Given the description of an element on the screen output the (x, y) to click on. 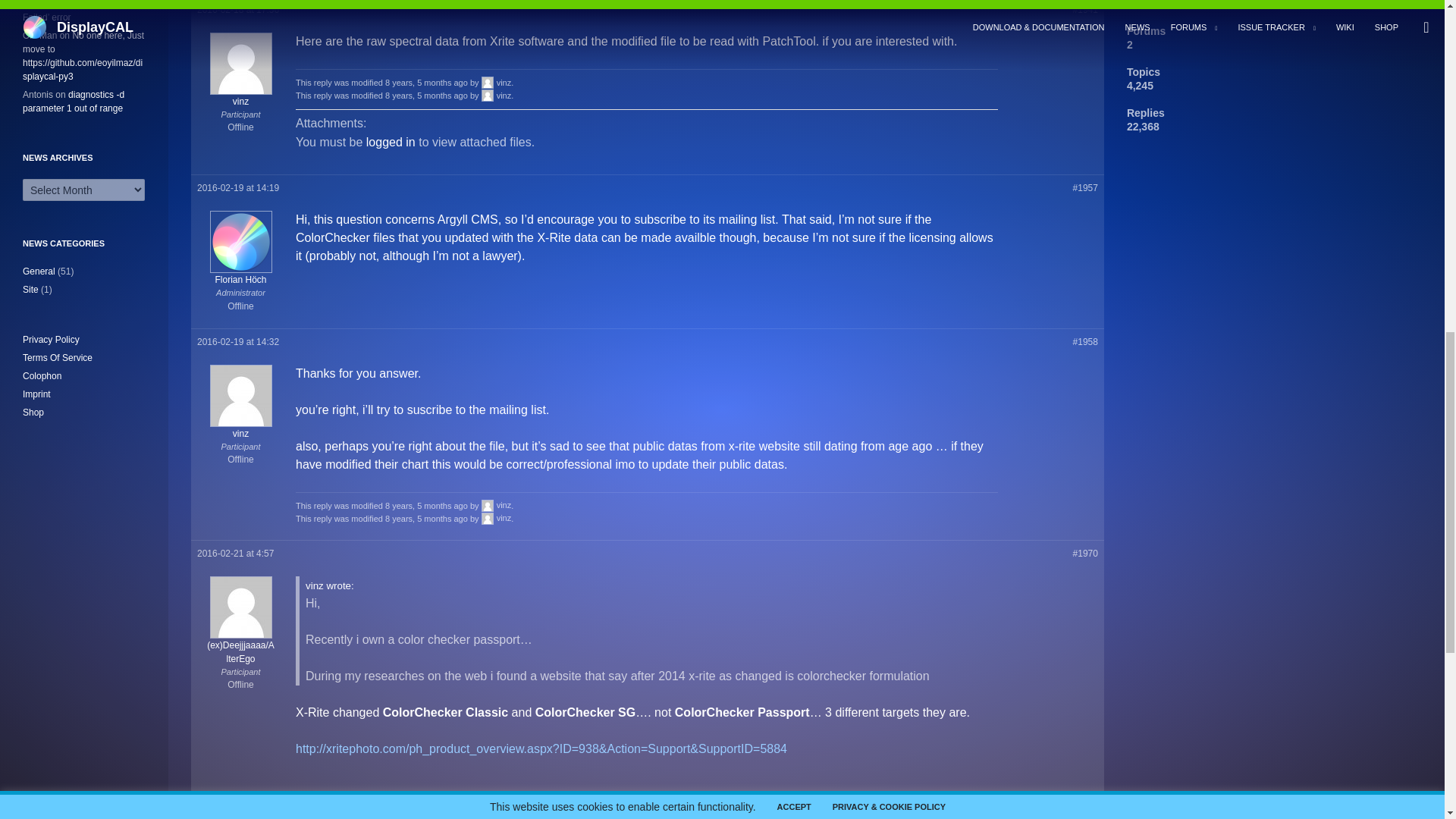
vinz (496, 517)
View vinz's profile (496, 81)
vinz (496, 504)
vinz (496, 94)
View vinz's profile (239, 95)
logged in (390, 141)
View vinz's profile (496, 517)
vinz (239, 95)
View vinz's profile (496, 94)
vinz (646, 630)
vinz (239, 427)
vinz (496, 81)
View vinz's profile (496, 504)
View vinz's profile (239, 427)
